Given the description of an element on the screen output the (x, y) to click on. 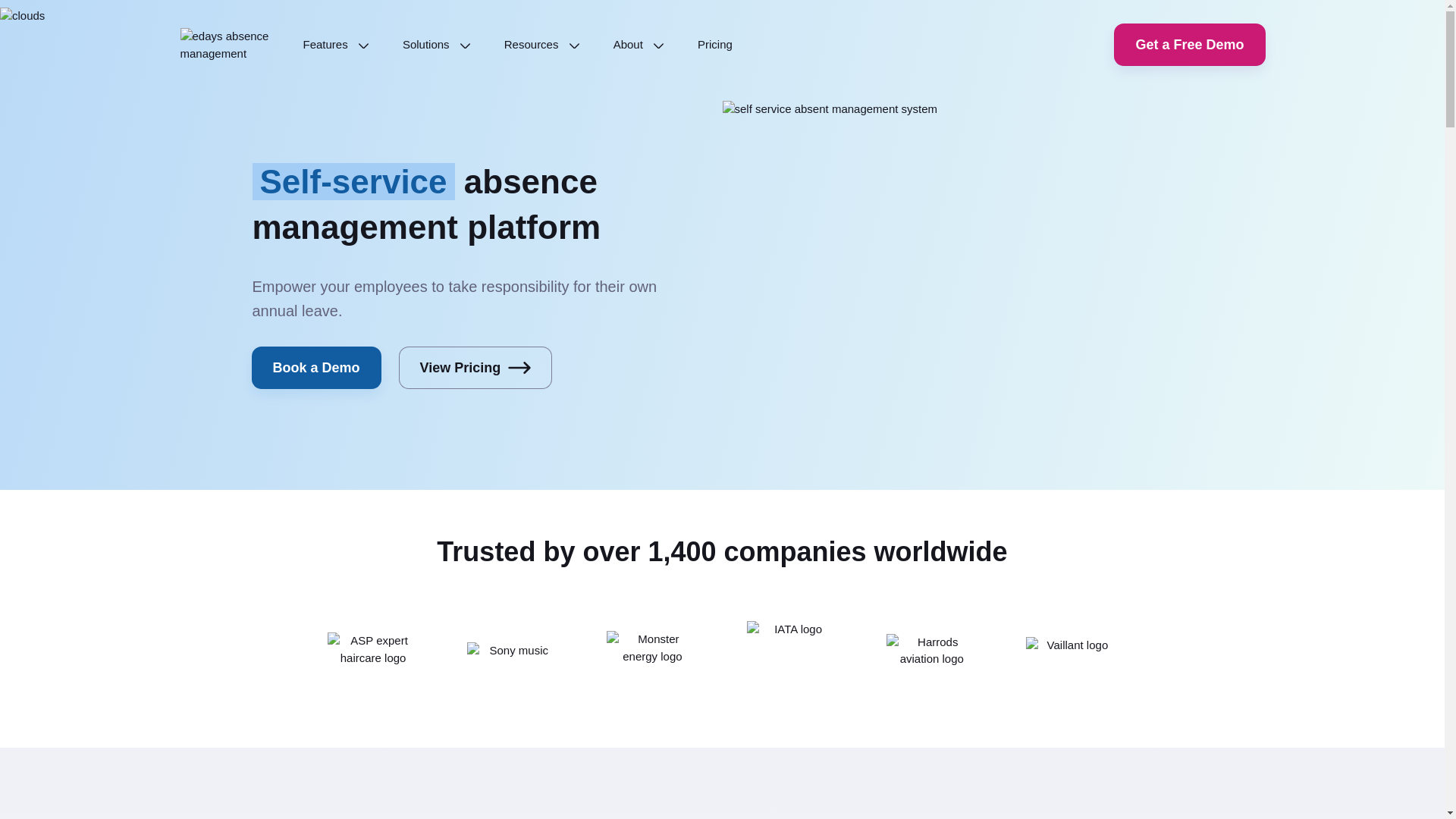
Features (335, 43)
About (637, 43)
Solutions (436, 43)
Resources (541, 43)
